Given the description of an element on the screen output the (x, y) to click on. 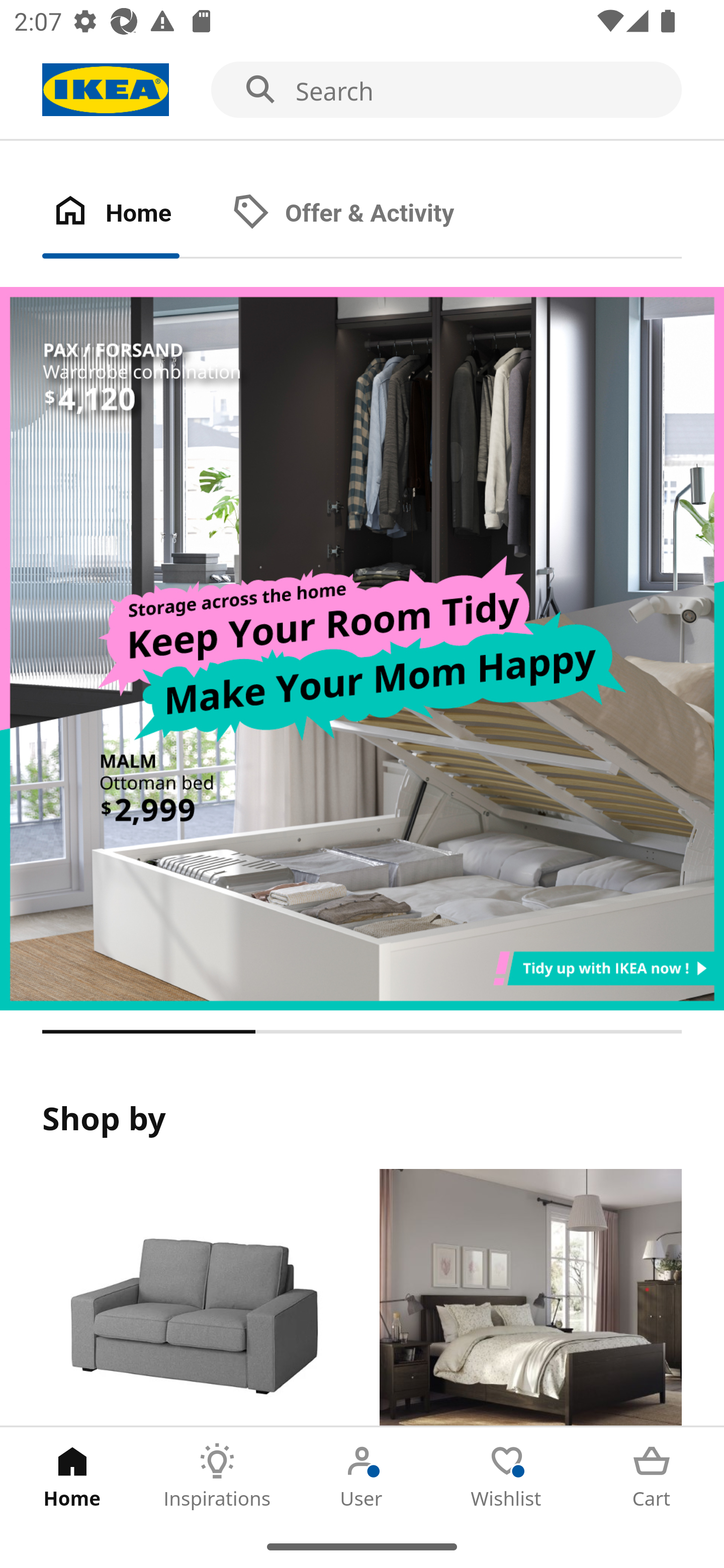
Search (361, 90)
Home
Tab 1 of 2 (131, 213)
Offer & Activity
Tab 2 of 2 (363, 213)
Products (192, 1297)
Rooms (530, 1297)
Home
Tab 1 of 5 (72, 1476)
Inspirations
Tab 2 of 5 (216, 1476)
User
Tab 3 of 5 (361, 1476)
Wishlist
Tab 4 of 5 (506, 1476)
Cart
Tab 5 of 5 (651, 1476)
